Given the description of an element on the screen output the (x, y) to click on. 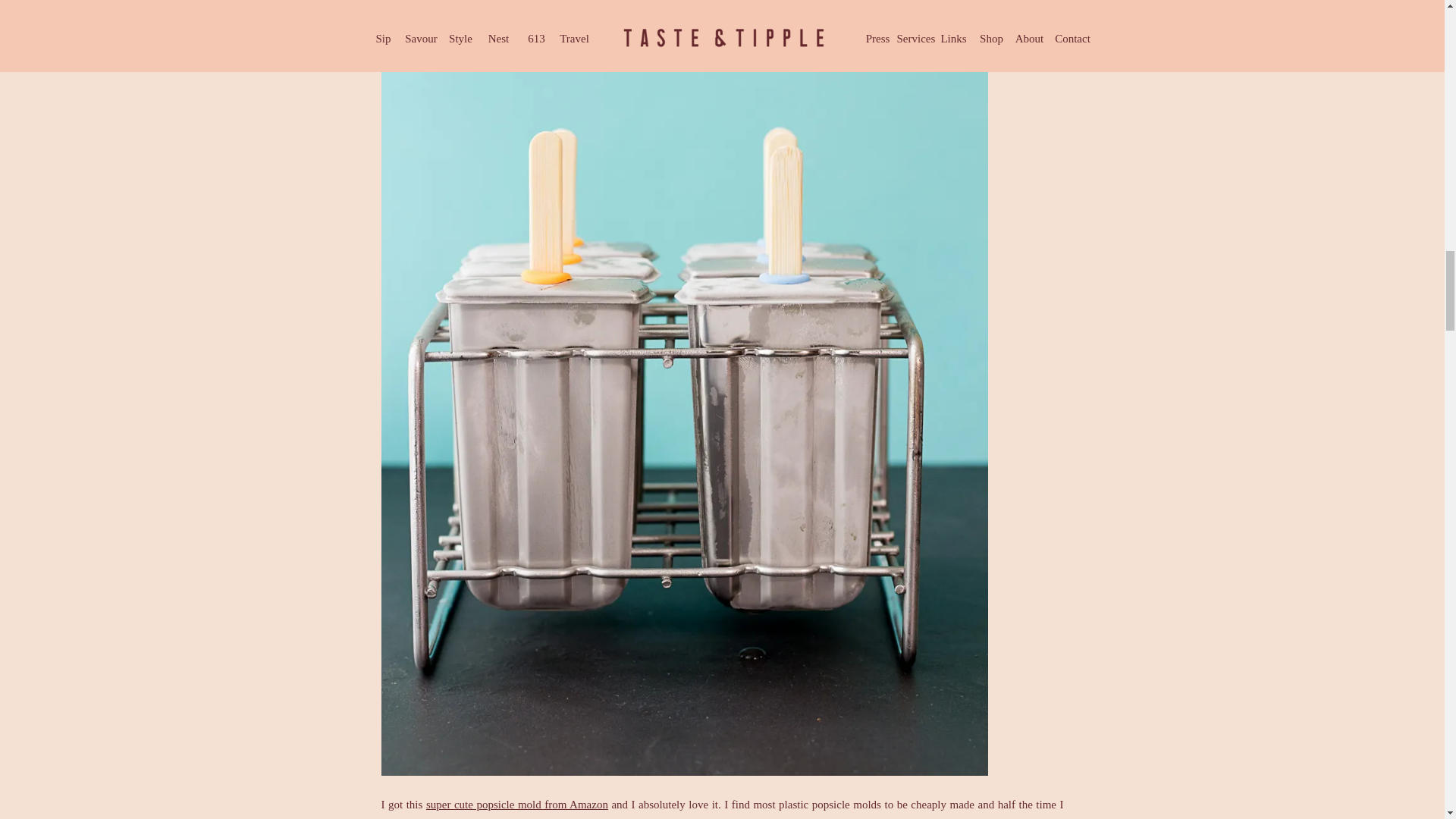
super cute popsicle mold from Amazon (517, 804)
